Given the description of an element on the screen output the (x, y) to click on. 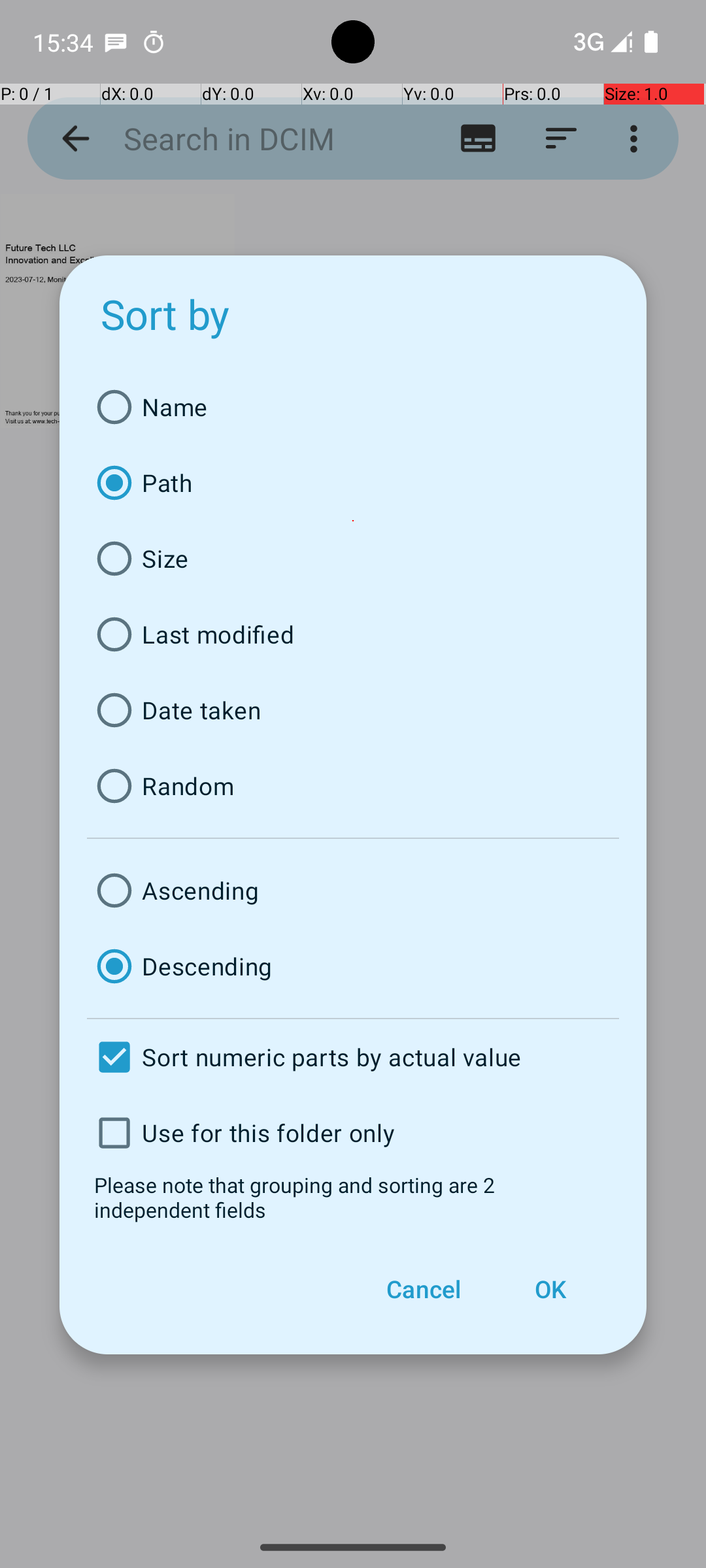
Sort numeric parts by actual value Element type: android.widget.CheckBox (352, 1056)
Use for this folder only Element type: android.widget.CheckBox (352, 1132)
Please note that grouping and sorting are 2 independent fields Element type: android.widget.TextView (352, 1196)
Path Element type: android.widget.RadioButton (352, 482)
Last modified Element type: android.widget.RadioButton (352, 634)
Date taken Element type: android.widget.RadioButton (352, 710)
Random Element type: android.widget.RadioButton (352, 785)
